Given the description of an element on the screen output the (x, y) to click on. 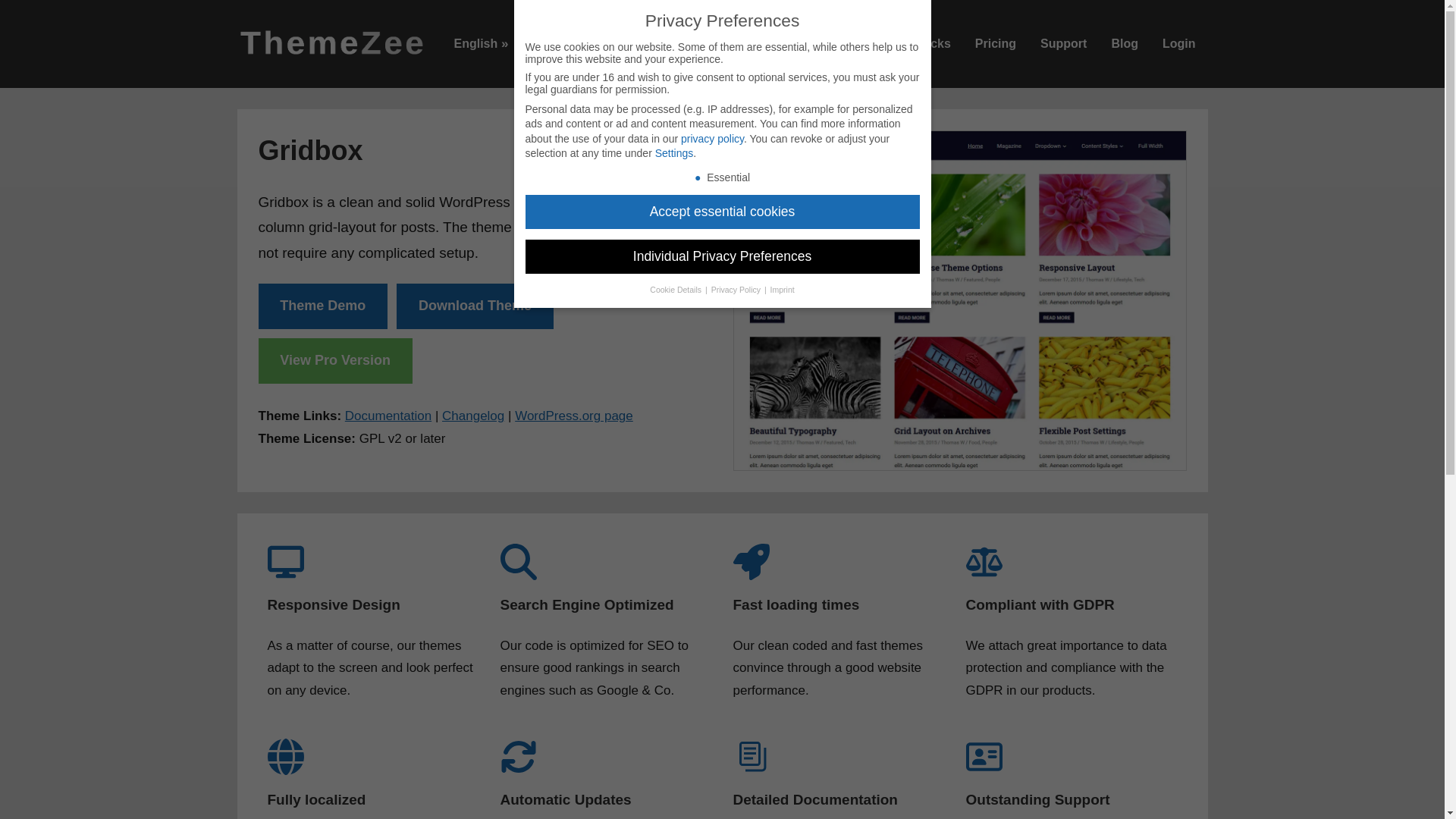
Cookie Details (676, 289)
Individual Privacy Preferences (721, 256)
Login (1179, 43)
Download Theme (474, 306)
English (480, 43)
Changelog (472, 415)
WordPress.org page (574, 415)
Privacy Policy (736, 289)
View Pro Version (334, 361)
Support (1063, 43)
Accept essential cookies (721, 212)
Themes (790, 43)
Blog (1124, 43)
Blocks (930, 43)
Documentation (387, 415)
